Given the description of an element on the screen output the (x, y) to click on. 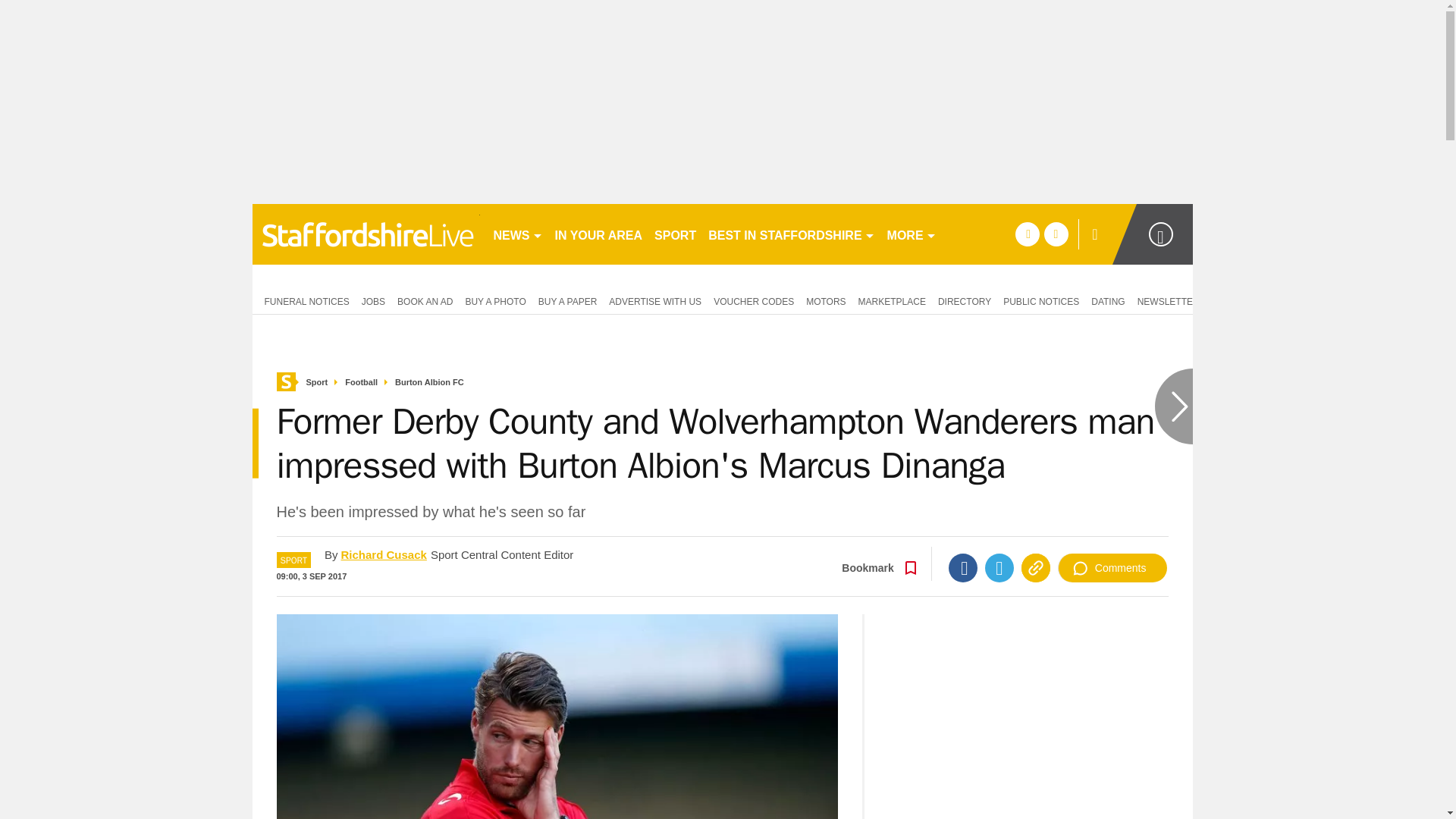
facebook (1026, 233)
ADVERTISE WITH US (654, 300)
Comments (1112, 567)
twitter (1055, 233)
BUY A PHOTO (494, 300)
NEWS (517, 233)
BUY A PAPER (568, 300)
IN YOUR AREA (598, 233)
MARKETPLACE (891, 300)
PUBLIC NOTICES (1040, 300)
